Given the description of an element on the screen output the (x, y) to click on. 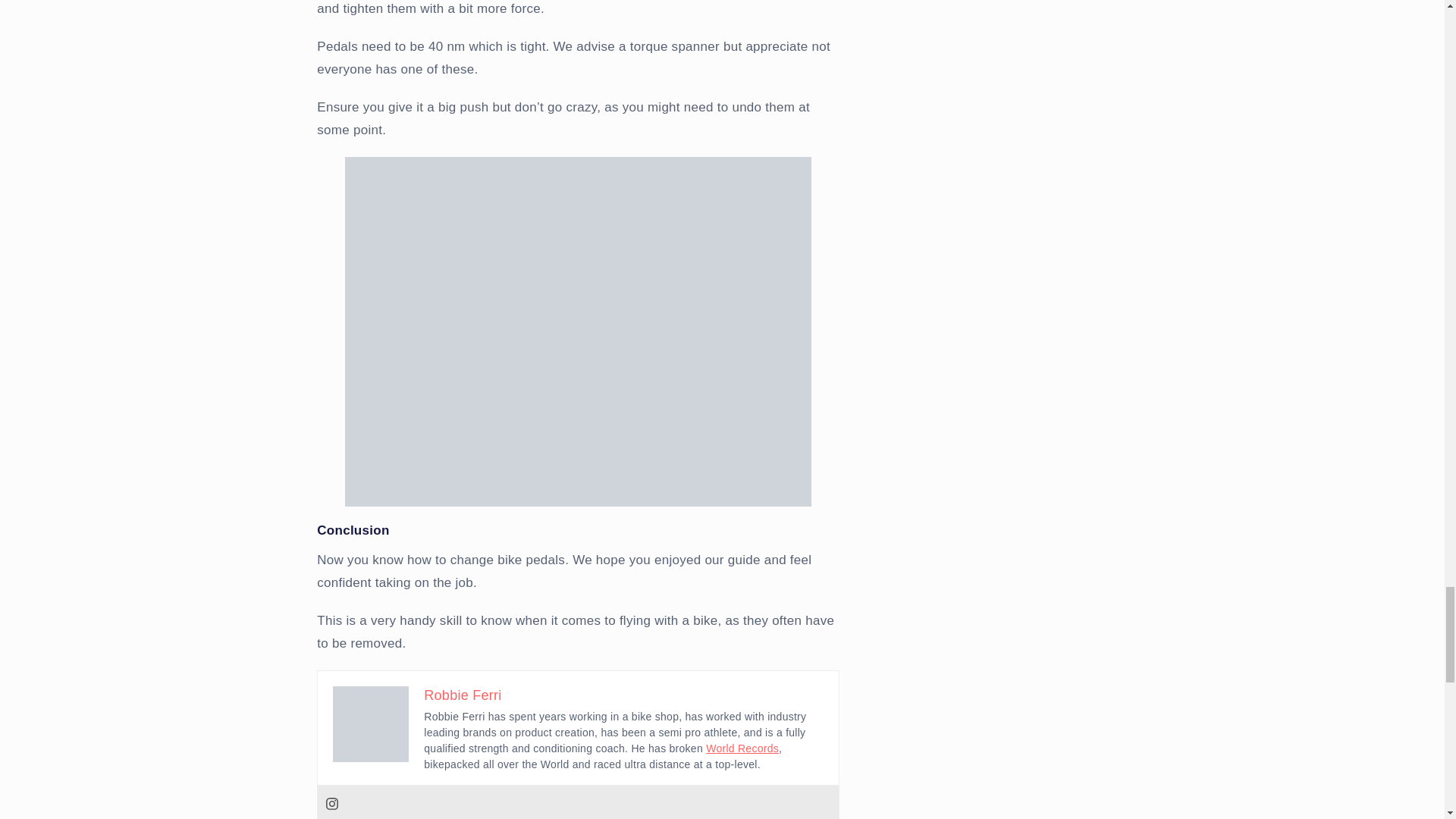
Robbie Ferri (461, 694)
World Records (742, 748)
